Given the description of an element on the screen output the (x, y) to click on. 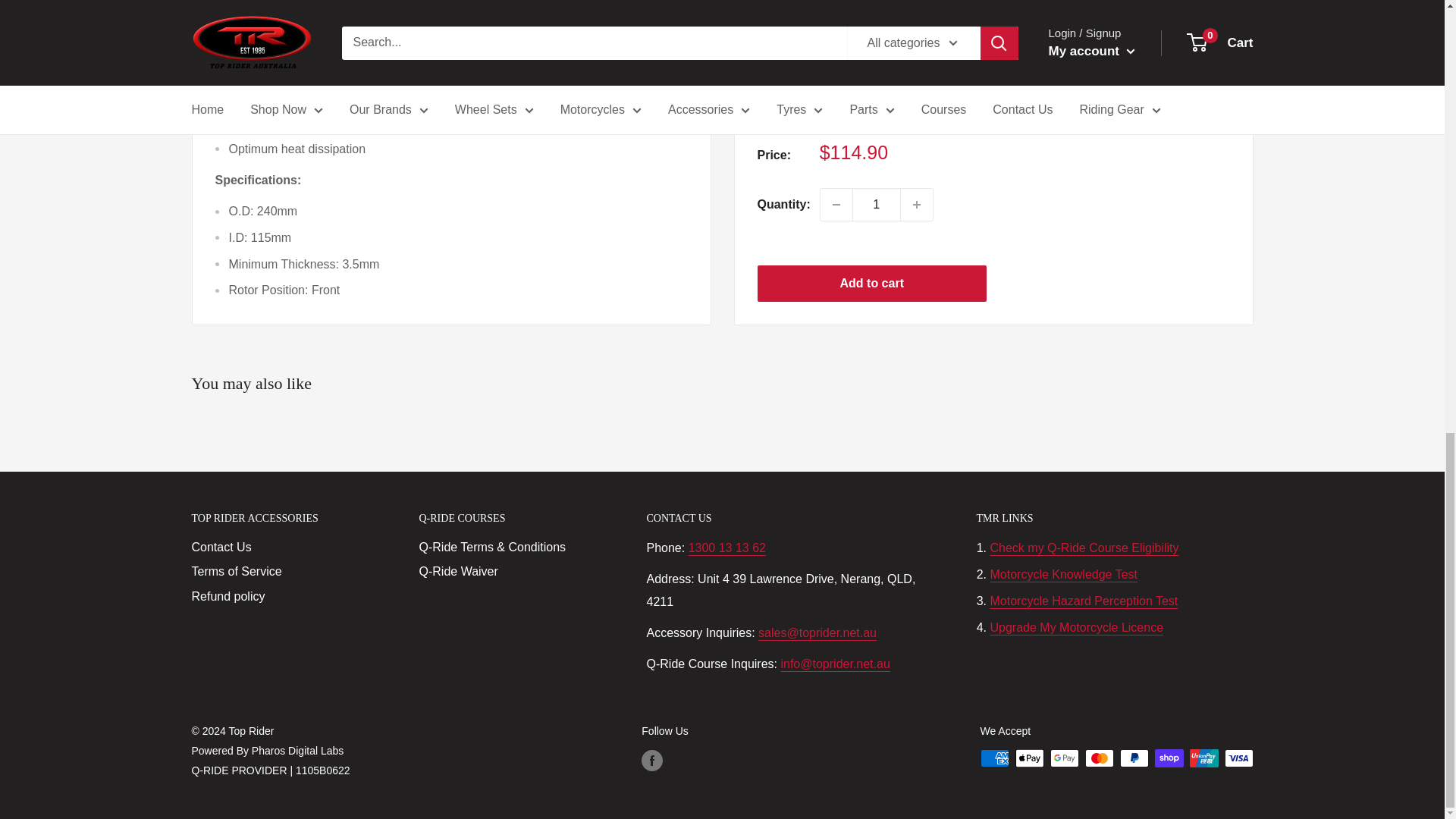
tel:1300131362 (726, 547)
